Given the description of an element on the screen output the (x, y) to click on. 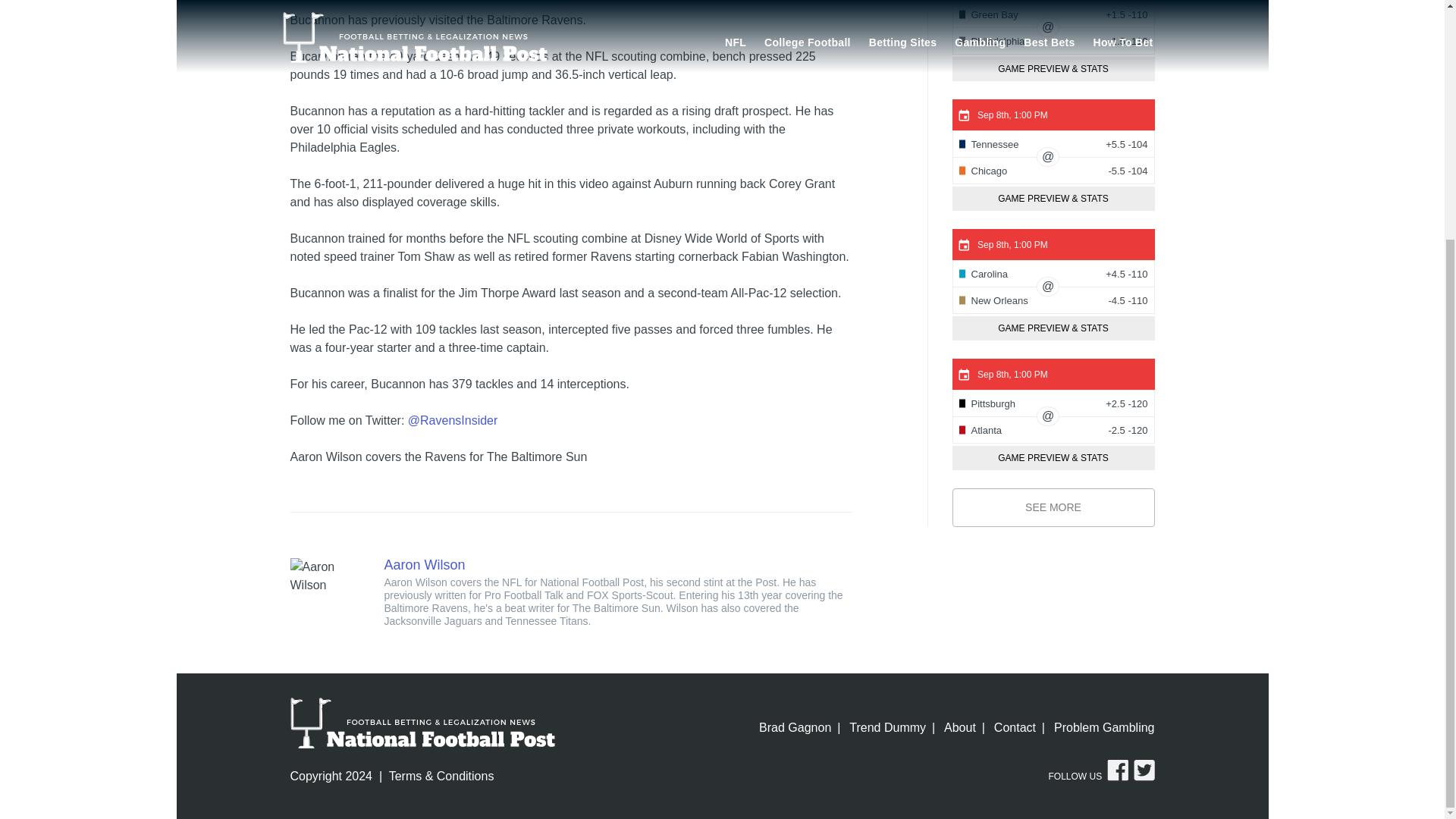
Brad Gagnon (799, 727)
SEE MORE (1053, 507)
Aaron Wilson (424, 564)
Trend Dummy (887, 727)
Brad Gagnon (799, 727)
Aaron Wilson (327, 575)
